Given the description of an element on the screen output the (x, y) to click on. 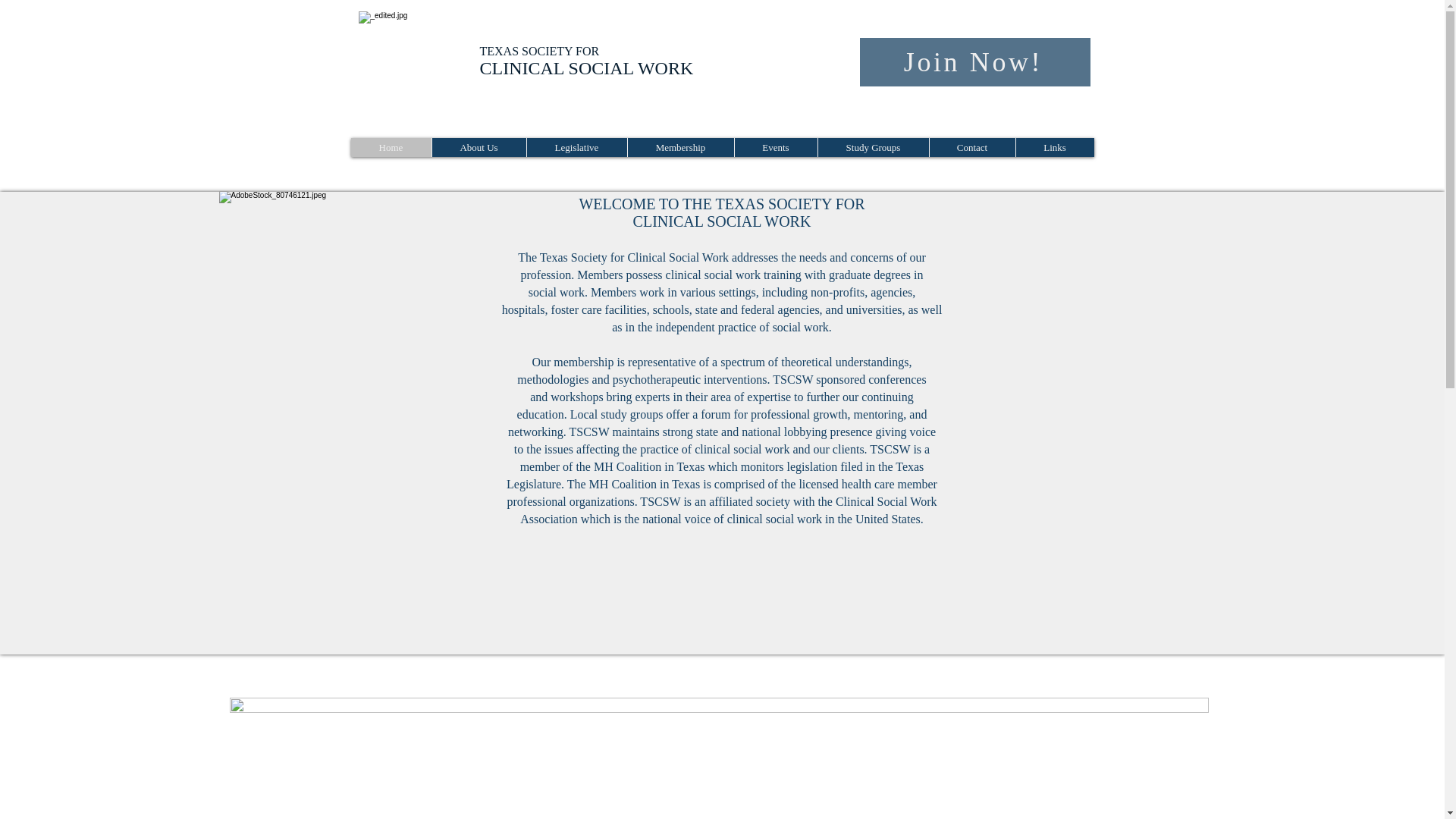
Join Now! (975, 61)
Events (774, 147)
Links (1053, 147)
Legislative (576, 147)
Contact (971, 147)
Membership (679, 147)
About Us (477, 147)
Home (390, 147)
Study Groups (872, 147)
